Given the description of an element on the screen output the (x, y) to click on. 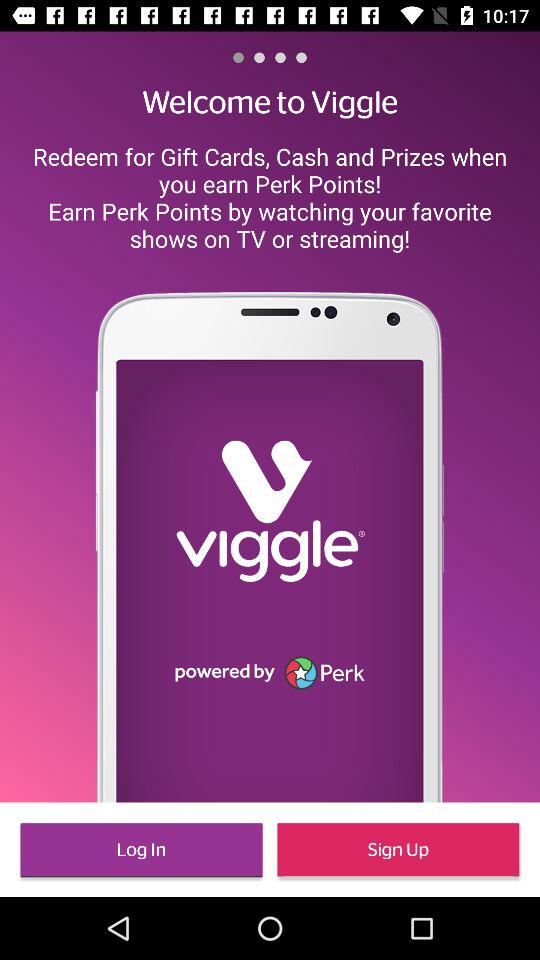
select log in item (141, 849)
